Given the description of an element on the screen output the (x, y) to click on. 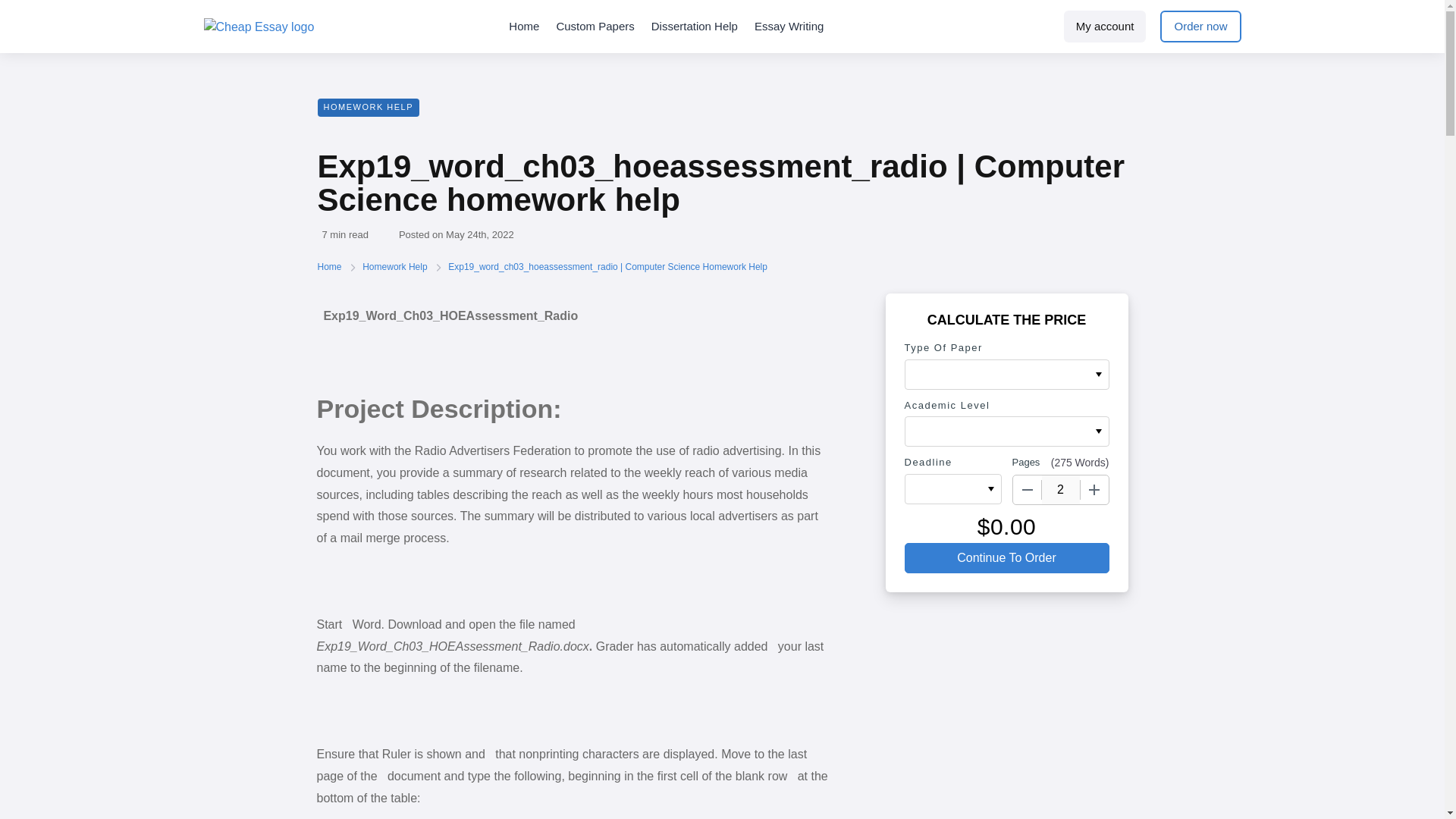
Home (523, 27)
Increase (1094, 489)
Homework Help (395, 266)
HOMEWORK HELP (368, 107)
Continue to order (1006, 557)
Essay Writing (789, 27)
2 (1061, 489)
Custom Papers (594, 27)
Decrease (1027, 489)
Continue to order (1006, 557)
Dissertation Help (694, 27)
Home (330, 266)
My account (1105, 26)
Order now (1200, 26)
